Given the description of an element on the screen output the (x, y) to click on. 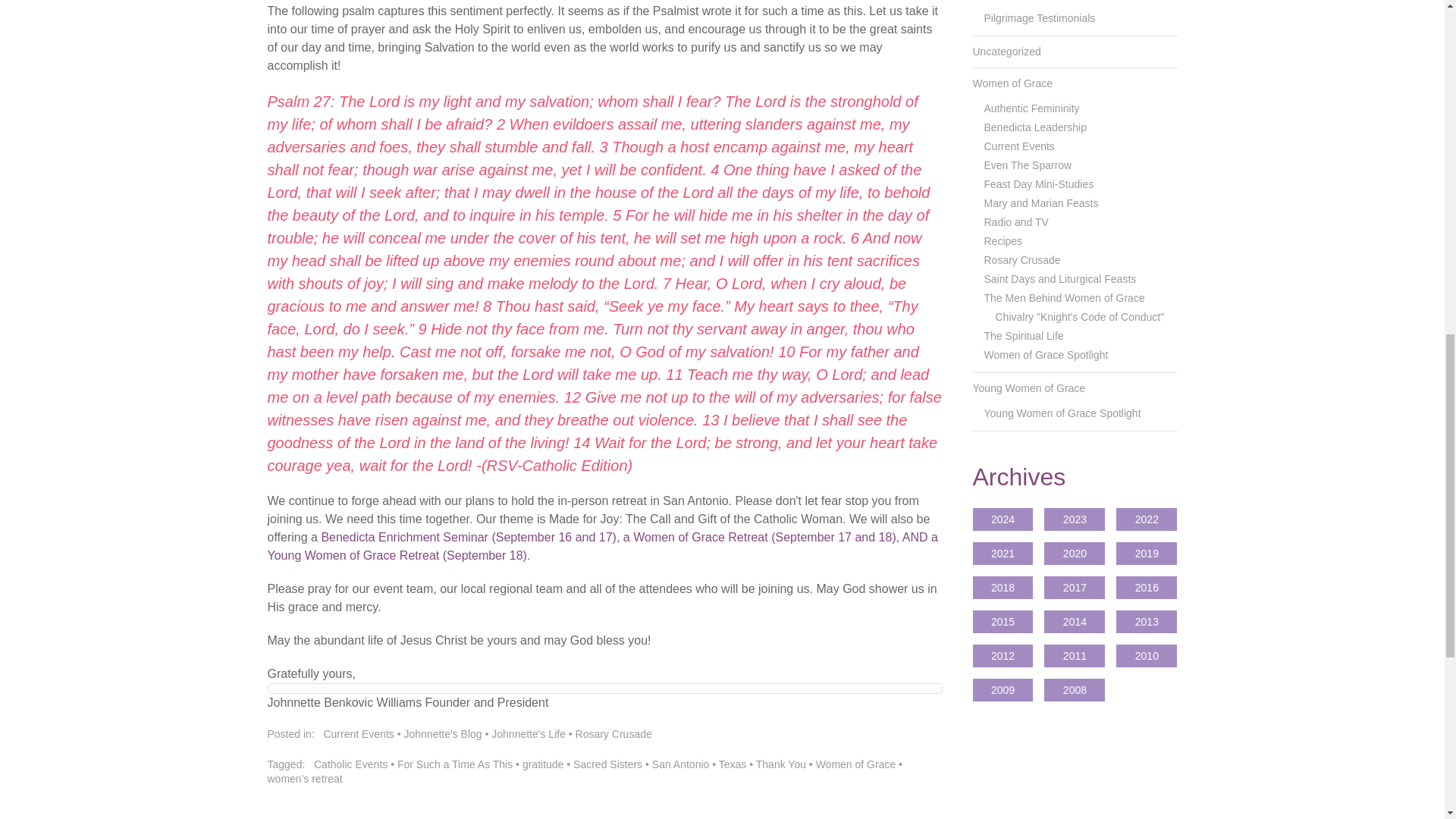
Rosary Crusade (613, 734)
Current Events (358, 734)
Johnnette's Life (529, 734)
Catholic Events (350, 764)
Johnnette's Blog (442, 734)
Sacred Sisters (607, 764)
San Antonio (681, 764)
Women of Grace (855, 764)
For Such a Time As This (454, 764)
Texas (732, 764)
gratitude (542, 764)
women's retreat (304, 778)
Thank You (780, 764)
